Given the description of an element on the screen output the (x, y) to click on. 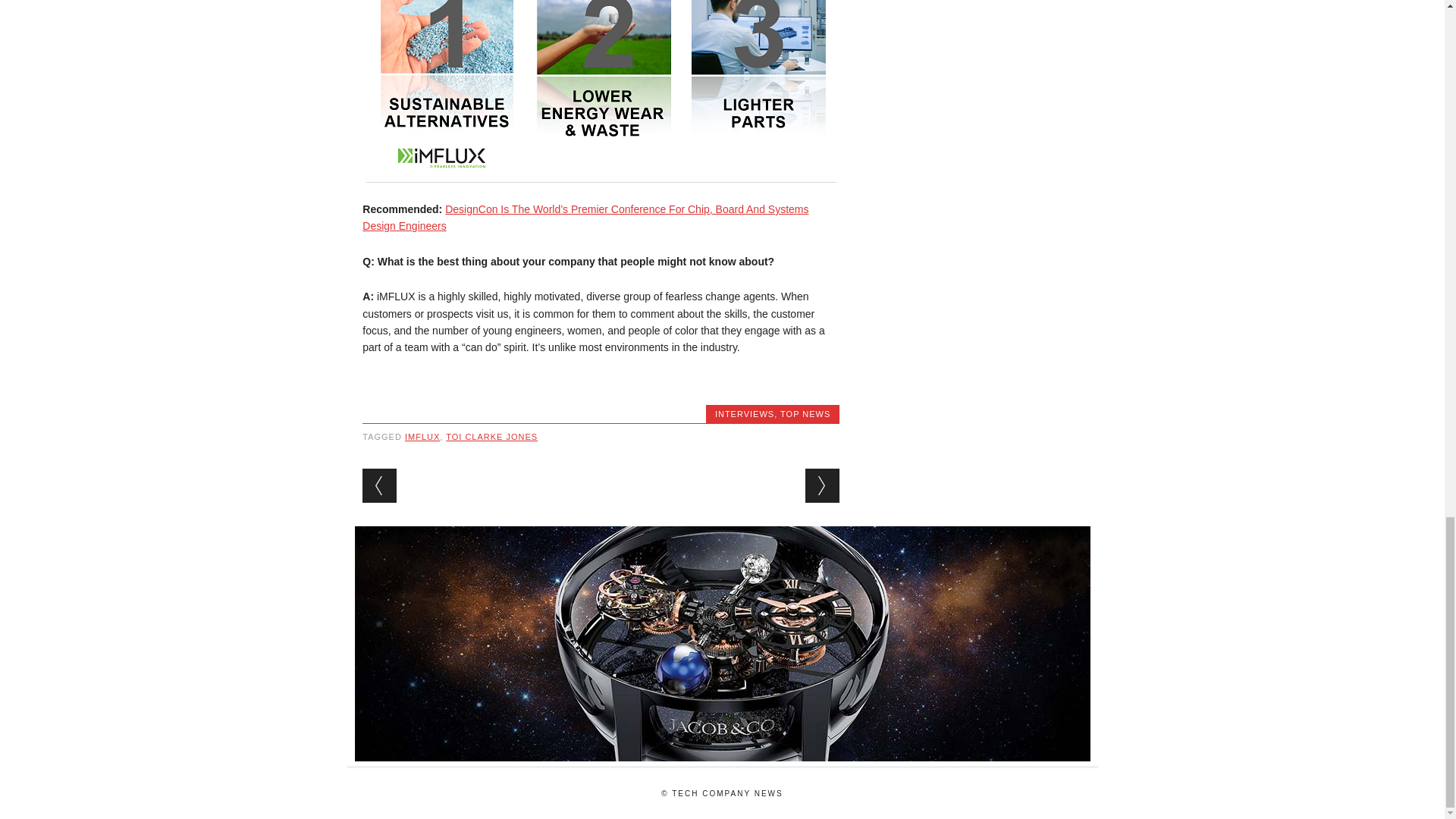
TOP NEWS (804, 413)
TOI CLARKE JONES (491, 436)
IMFLUX (421, 436)
INTERVIEWS (744, 413)
